Given the description of an element on the screen output the (x, y) to click on. 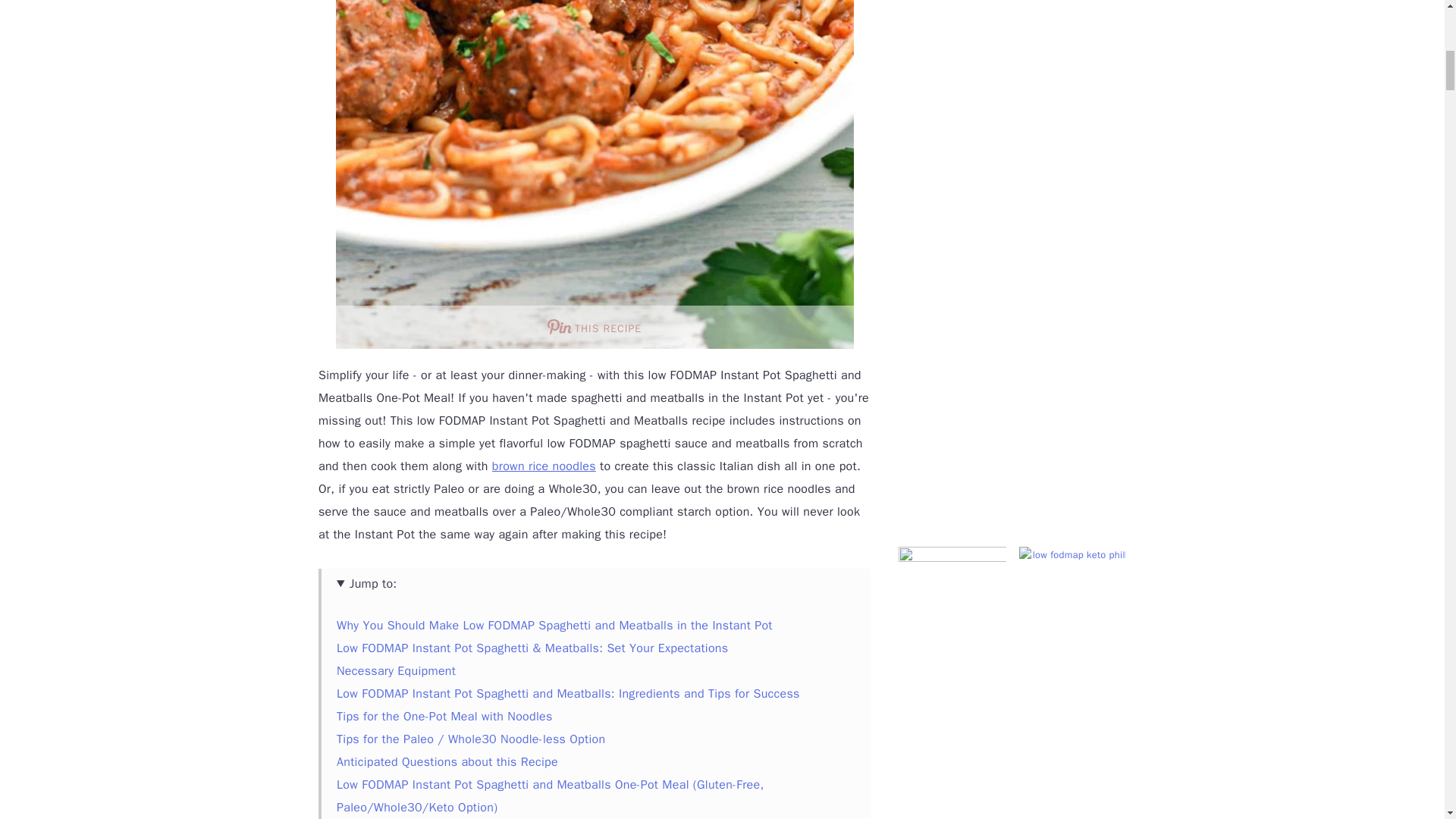
Necessary Equipment (395, 670)
brown rice noodles (543, 466)
Tips for the One-Pot Meal with Noodles (444, 716)
THIS RECIPE (593, 326)
